Given the description of an element on the screen output the (x, y) to click on. 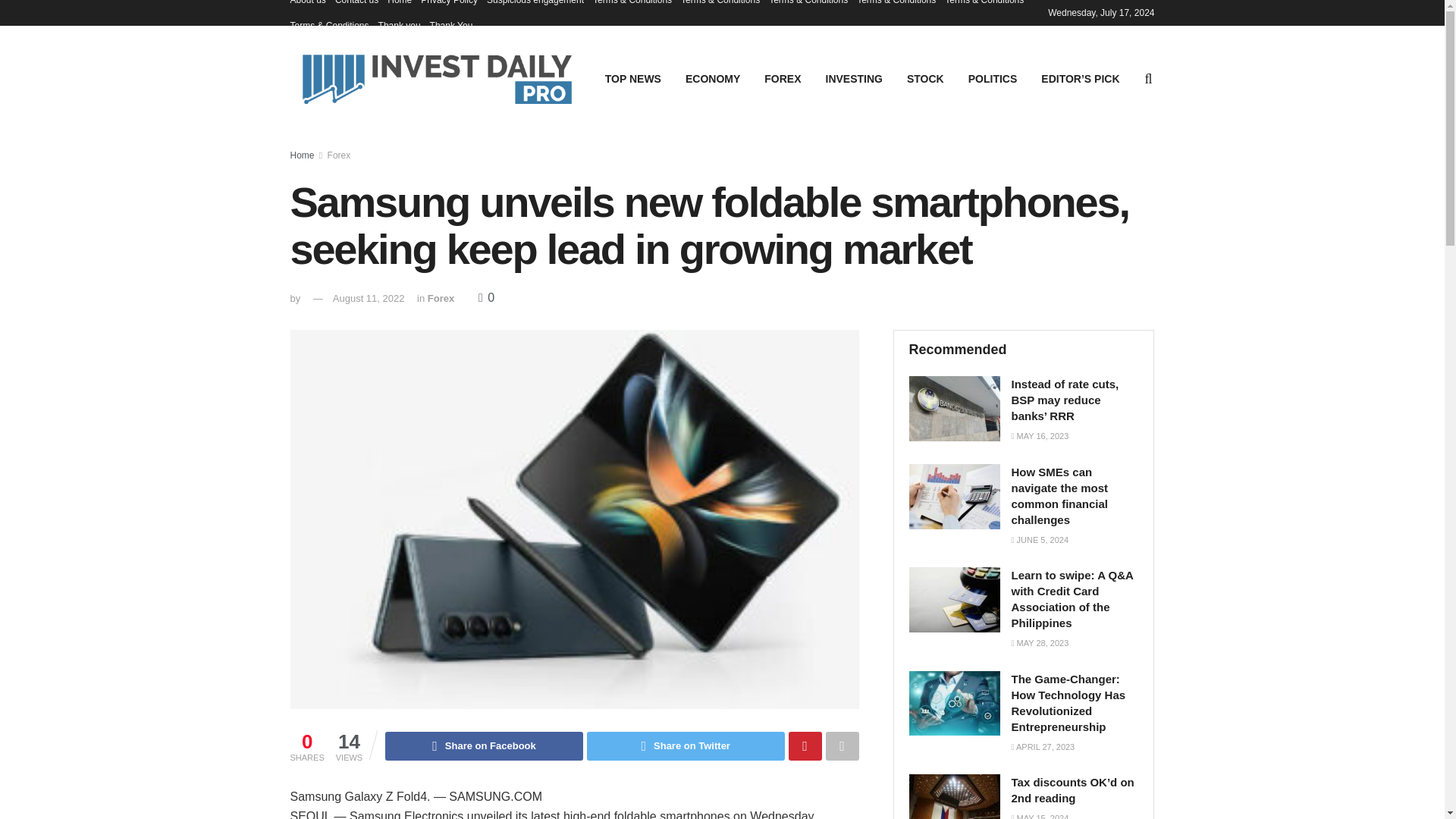
Thank you (399, 25)
ECONOMY (712, 78)
STOCK (925, 78)
POLITICS (992, 78)
About us (306, 6)
Contact us (356, 6)
Forex (338, 154)
Privacy Policy (448, 6)
August 11, 2022 (368, 297)
Suspicious engagement (534, 6)
Home (301, 154)
FOREX (782, 78)
TOP NEWS (632, 78)
INVESTING (854, 78)
Thank You (451, 25)
